Given the description of an element on the screen output the (x, y) to click on. 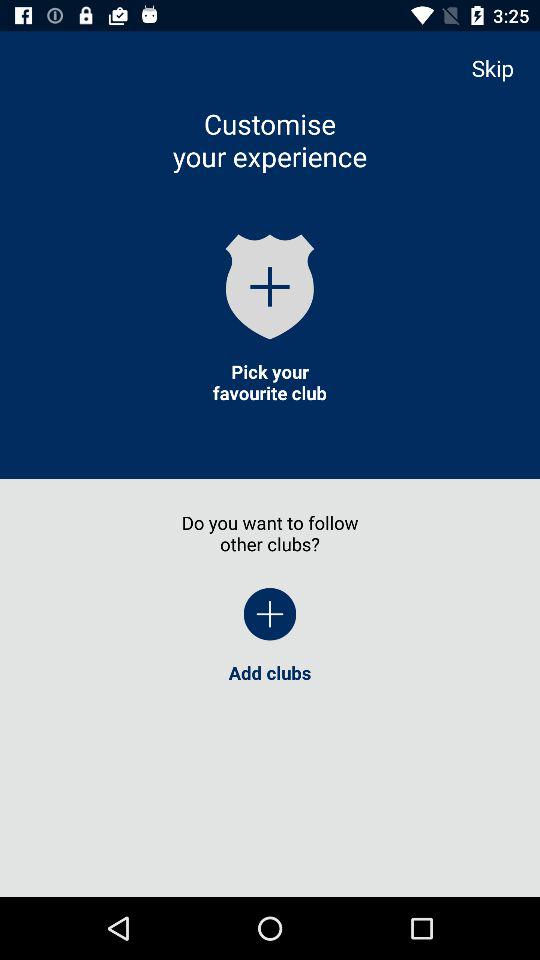
turn off item below do you want (269, 614)
